Given the description of an element on the screen output the (x, y) to click on. 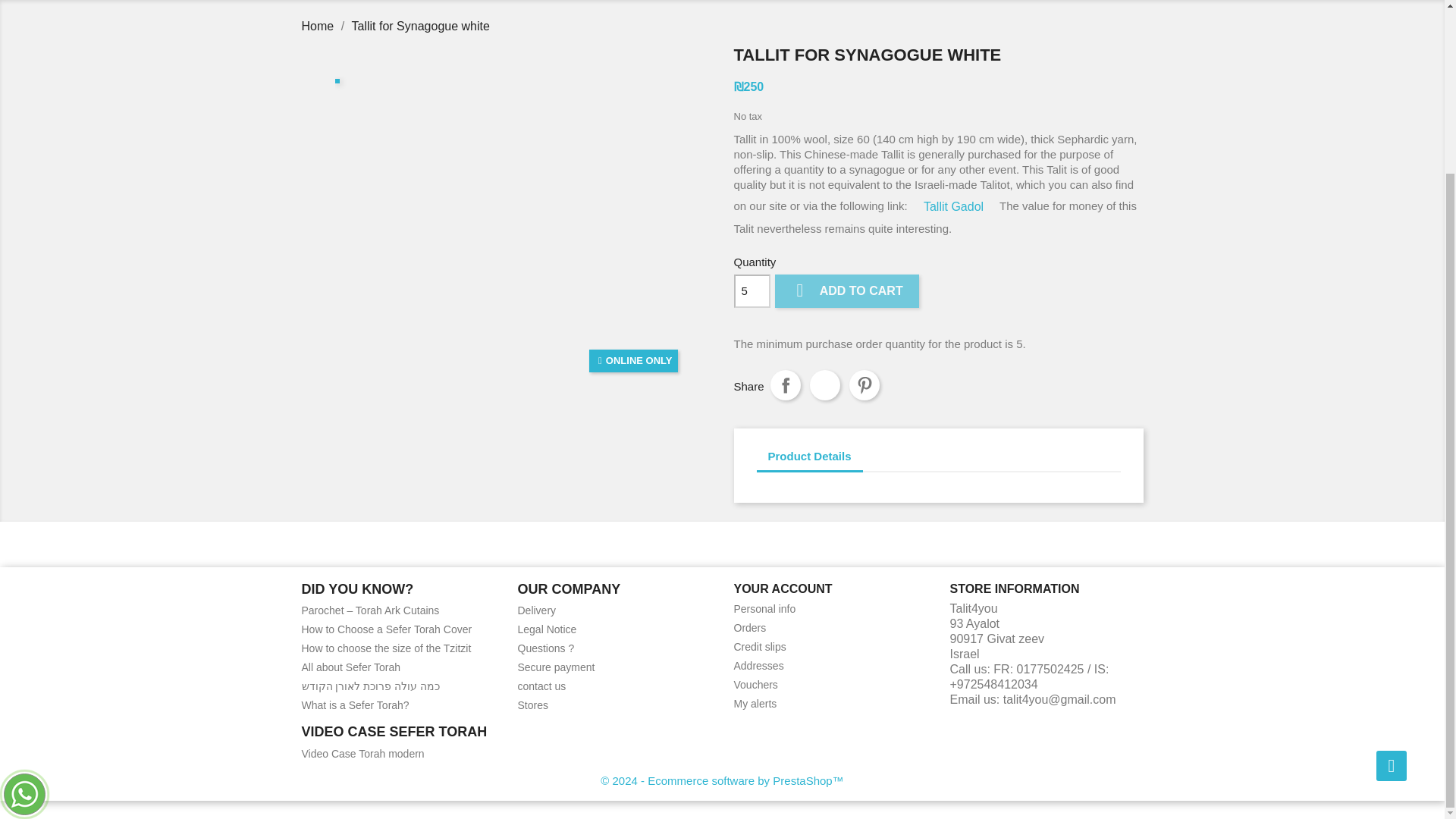
5 (751, 290)
Tweet (824, 385)
Pinterest (863, 385)
Share (785, 385)
